Given the description of an element on the screen output the (x, y) to click on. 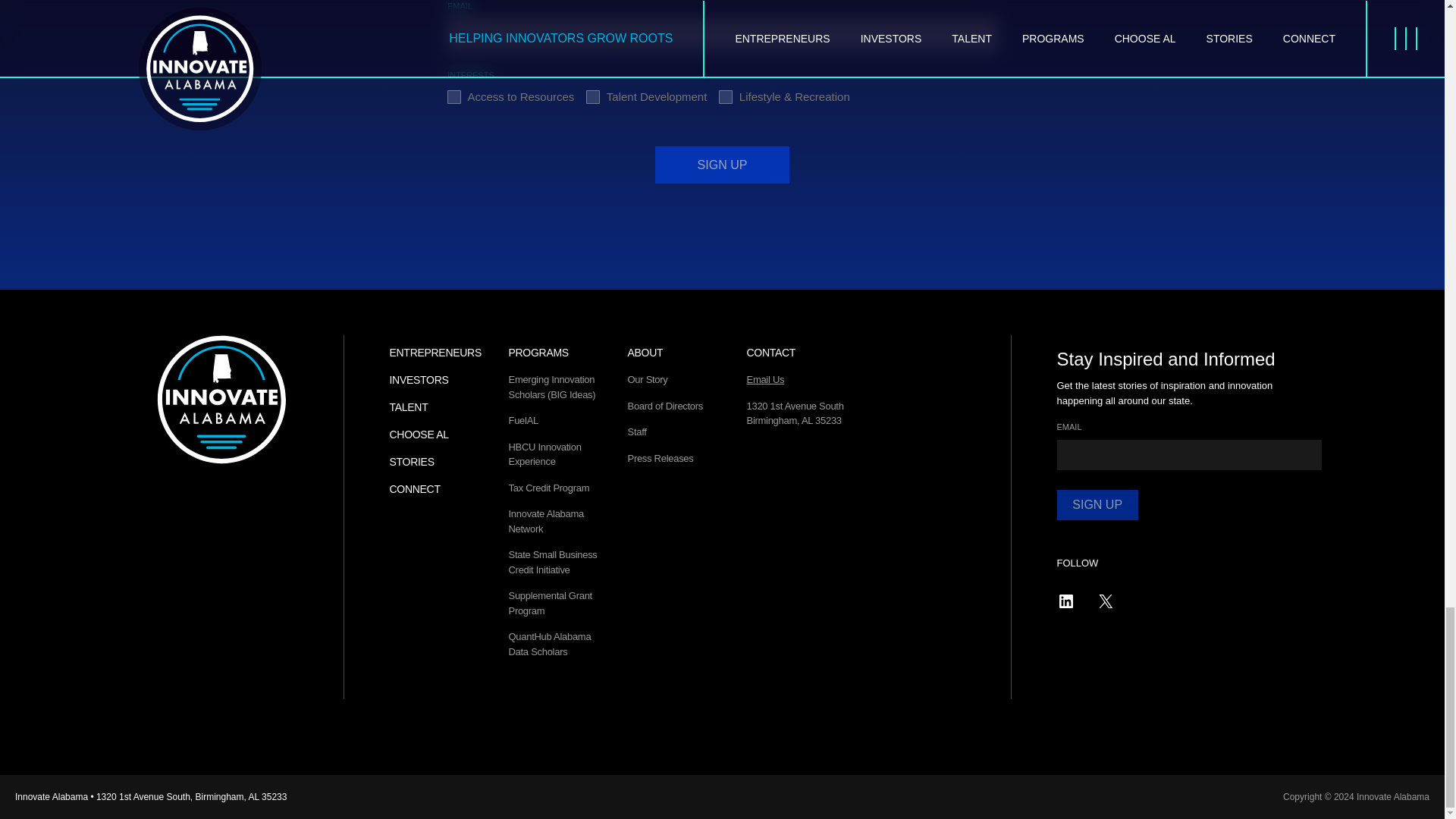
Sign Up (722, 164)
INVESTORS (419, 379)
QuantHub Alabama Data Scholars (549, 643)
Sign Up (1097, 504)
Board of Directors (665, 405)
Staff (636, 431)
Access to Resources (453, 97)
Tax Credit Program (548, 487)
ABOUT (645, 352)
TALENT (409, 407)
Press Releases (660, 458)
Innovate Alabama Network (545, 520)
State Small Business Credit Initiative (552, 561)
Talent Development (592, 97)
FuelAL (522, 419)
